Given the description of an element on the screen output the (x, y) to click on. 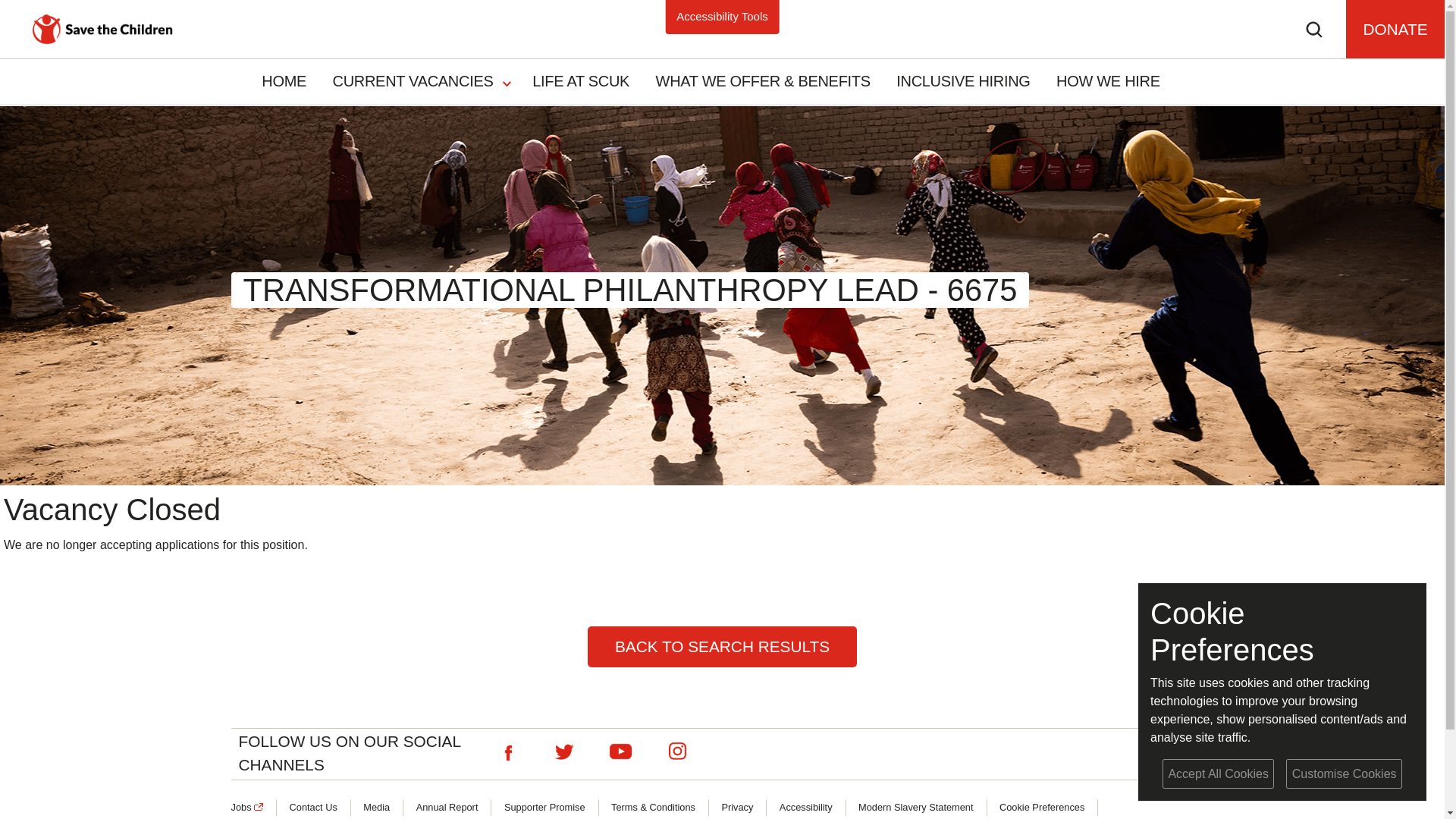
HOW WE HIRE (1108, 80)
show submenu current vacancies (506, 82)
Youtube (620, 752)
CURRENT VACANCIES (415, 80)
BACK TO SEARCH RESULTS (722, 646)
INCLUSIVE HIRING (962, 80)
Instagram (676, 752)
Twitter (563, 752)
Accessibility Tools (722, 16)
LIFE AT SCUK (580, 80)
HOME (283, 80)
Facebook (506, 752)
